Given the description of an element on the screen output the (x, y) to click on. 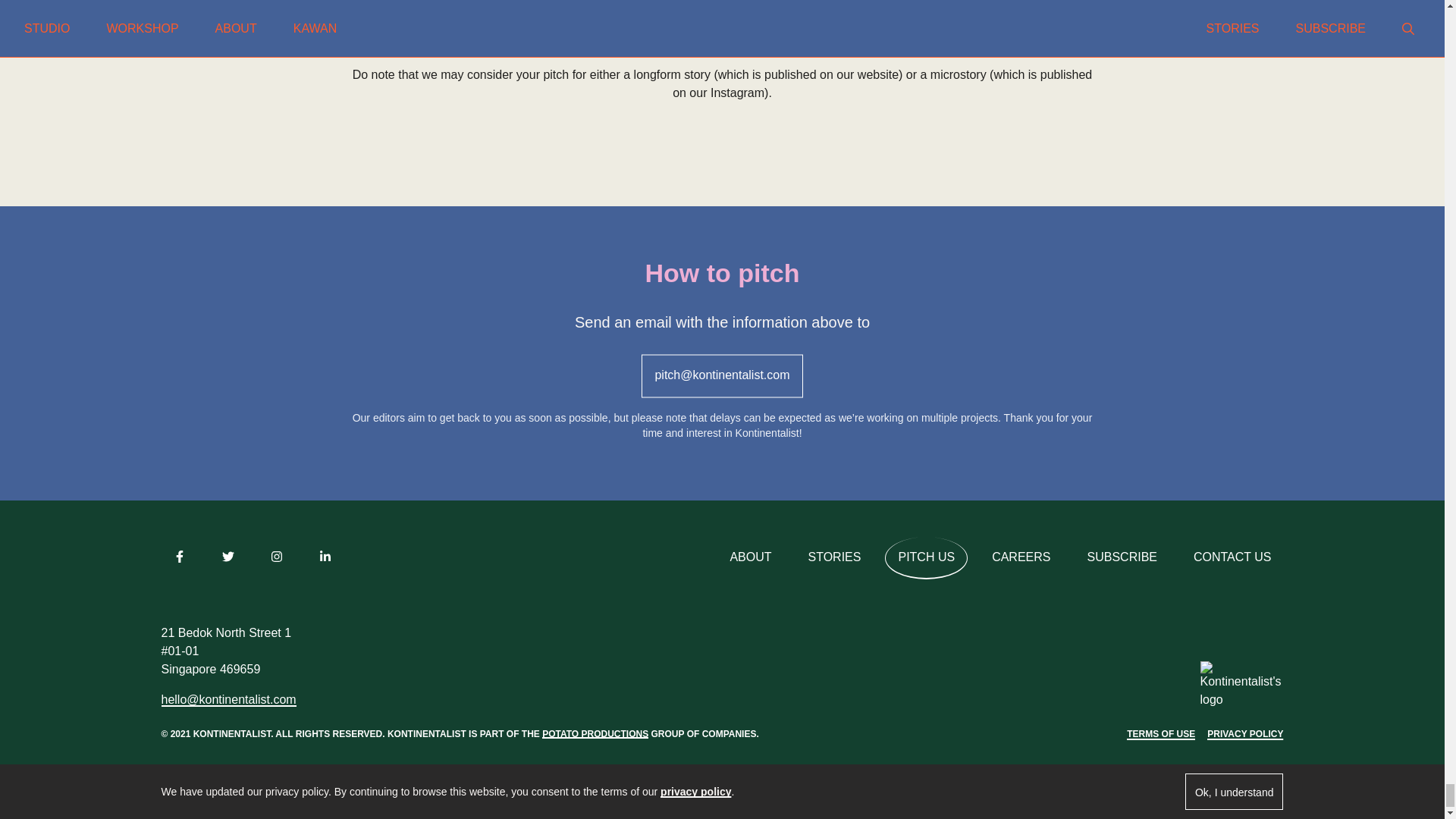
CAREERS (1020, 558)
SUBSCRIBE (1122, 558)
PITCH US (926, 558)
ABOUT (750, 558)
CONTACT US (1232, 558)
TERMS OF USE (1160, 734)
POTATO PRODUCTIONS (594, 733)
STORIES (834, 558)
PRIVACY POLICY (1244, 734)
